Given the description of an element on the screen output the (x, y) to click on. 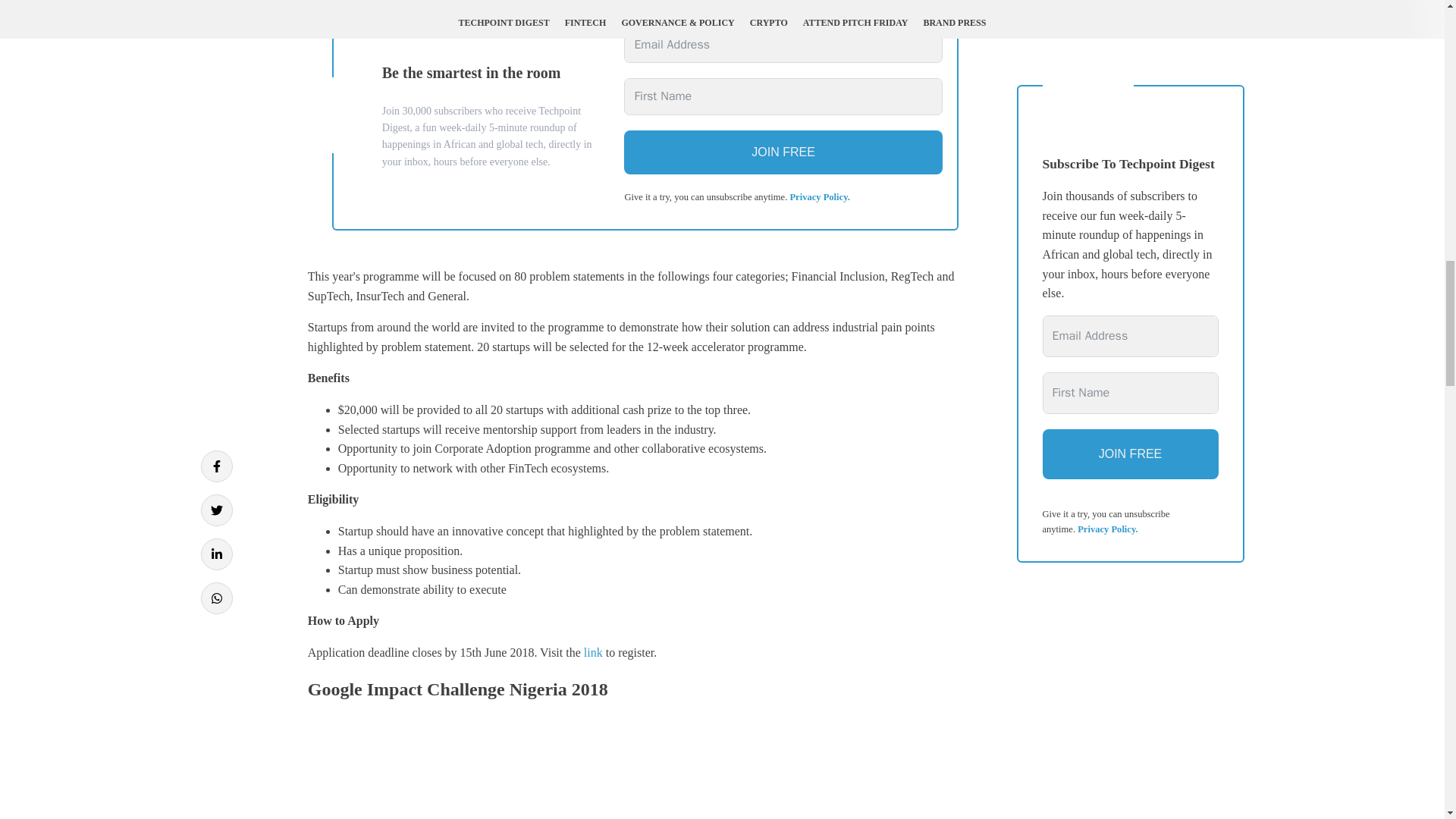
JOIN FREE (1129, 115)
Privacy Policy. (1107, 190)
JOIN FREE (783, 152)
Privacy Policy. (818, 196)
link (592, 652)
